Given the description of an element on the screen output the (x, y) to click on. 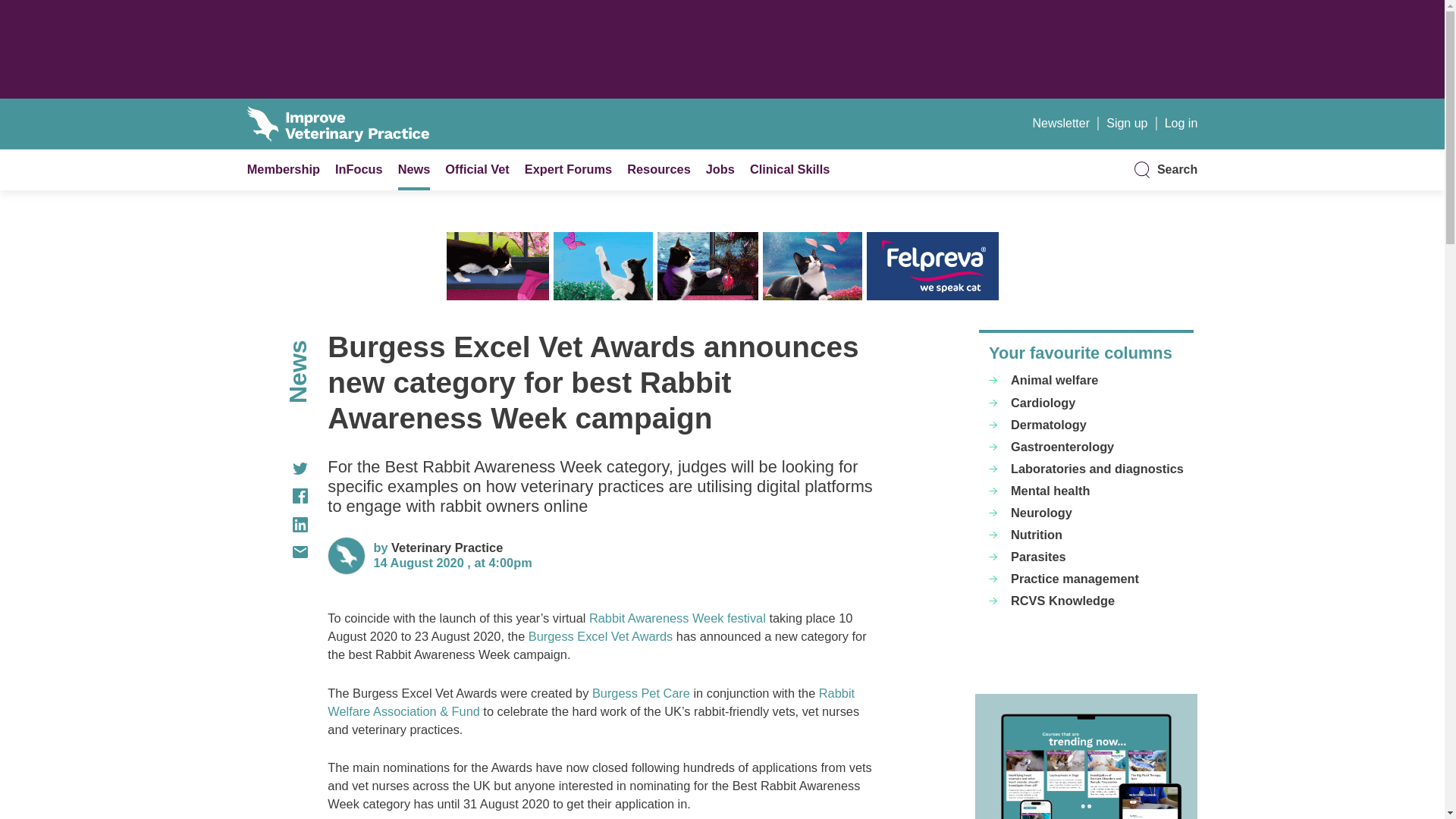
Jobs (720, 169)
Share on Twitter (277, 468)
Share on Facebook (277, 495)
Membership (283, 169)
Rabbit Awareness Week festival (677, 617)
Burgess Excel Vet Awards (600, 635)
InFocus (358, 169)
veterinary-practice (446, 547)
Expert Forums (567, 169)
Resources (658, 169)
